Given the description of an element on the screen output the (x, y) to click on. 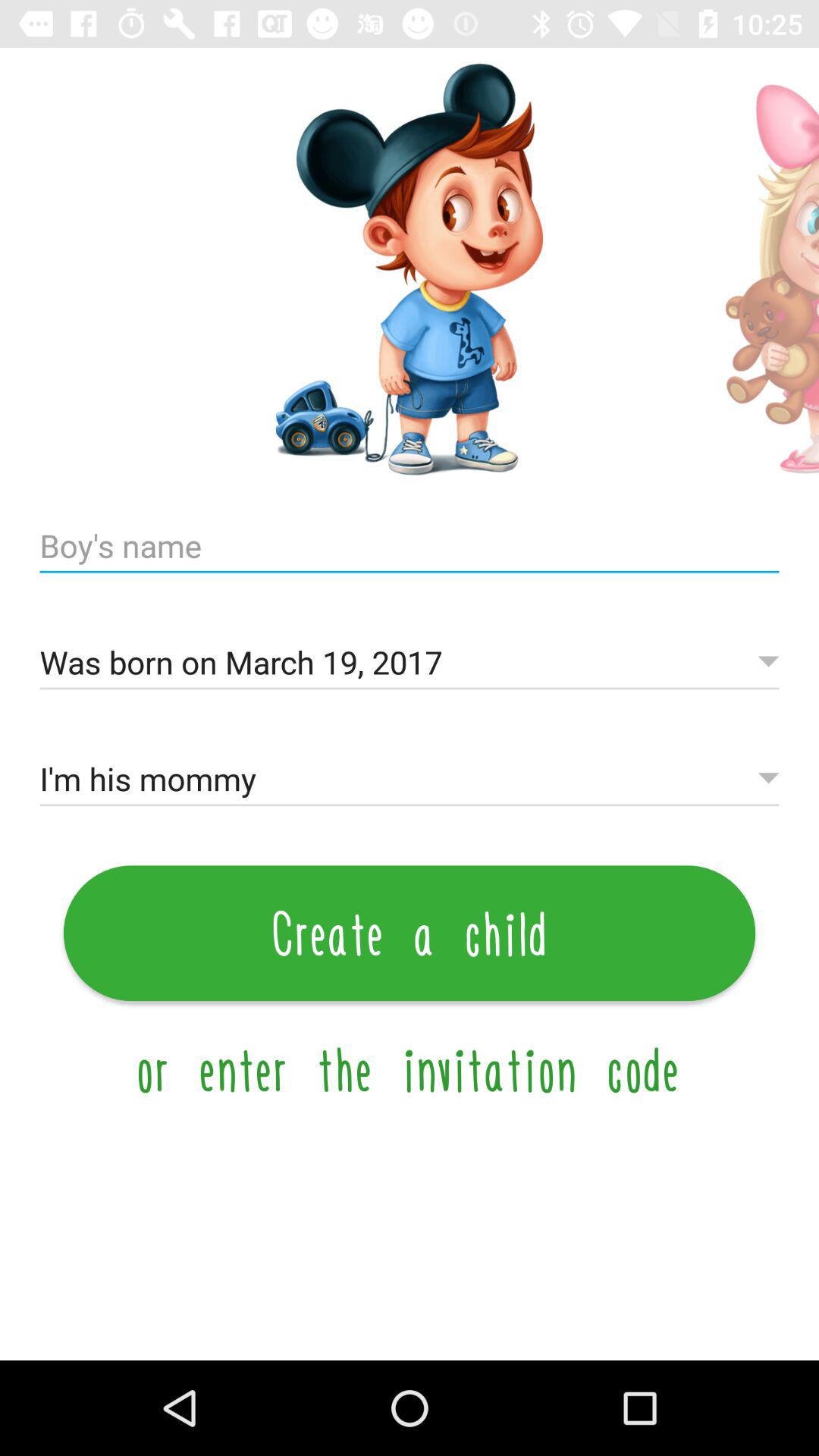
flip to or enter the item (409, 1068)
